Given the description of an element on the screen output the (x, y) to click on. 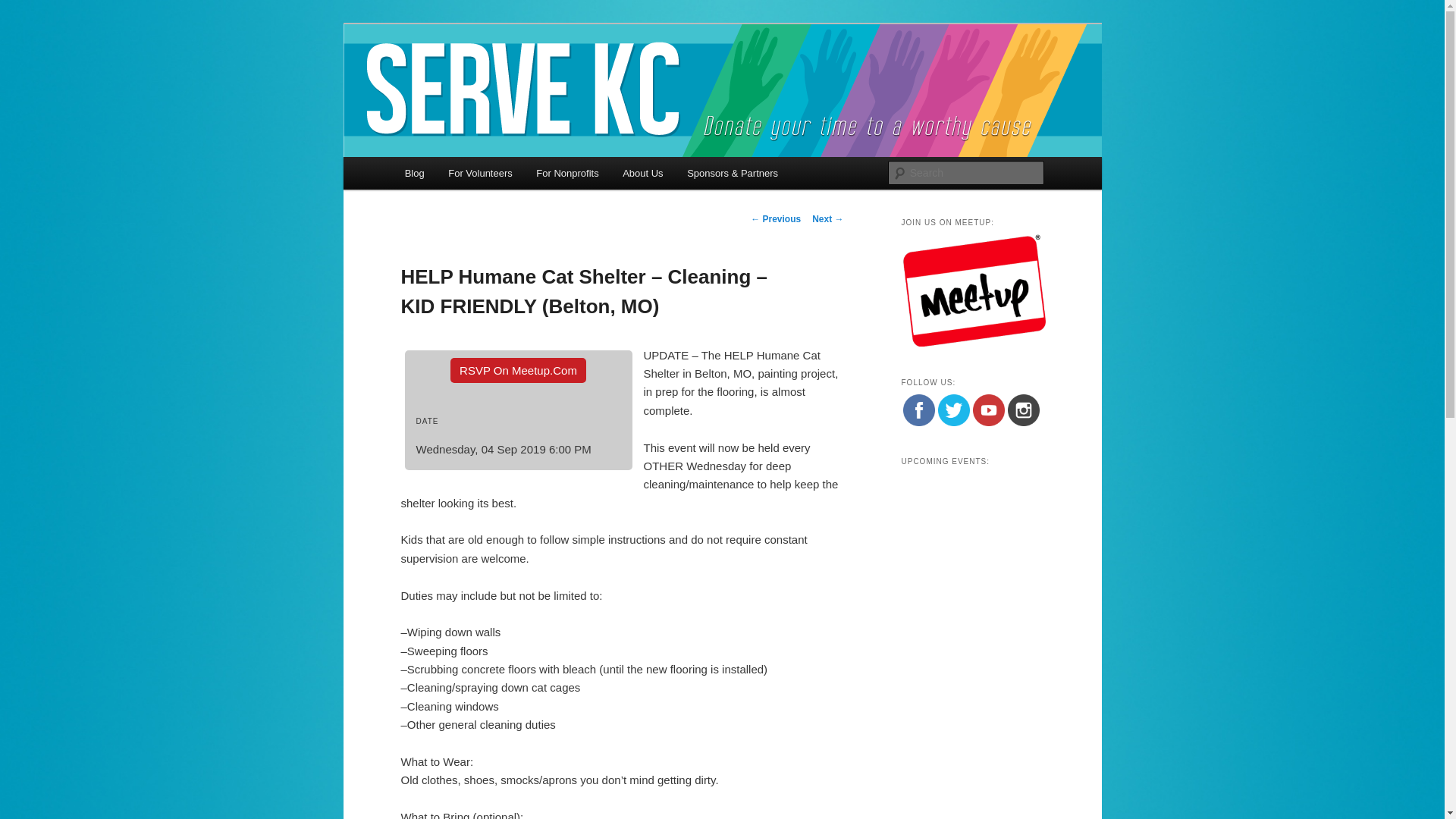
For Nonprofits (567, 173)
Search (24, 8)
For Volunteers (479, 173)
Serve KC (450, 78)
Blog (414, 173)
RSVP On Meetup.Com (517, 370)
About Us (642, 173)
